Given the description of an element on the screen output the (x, y) to click on. 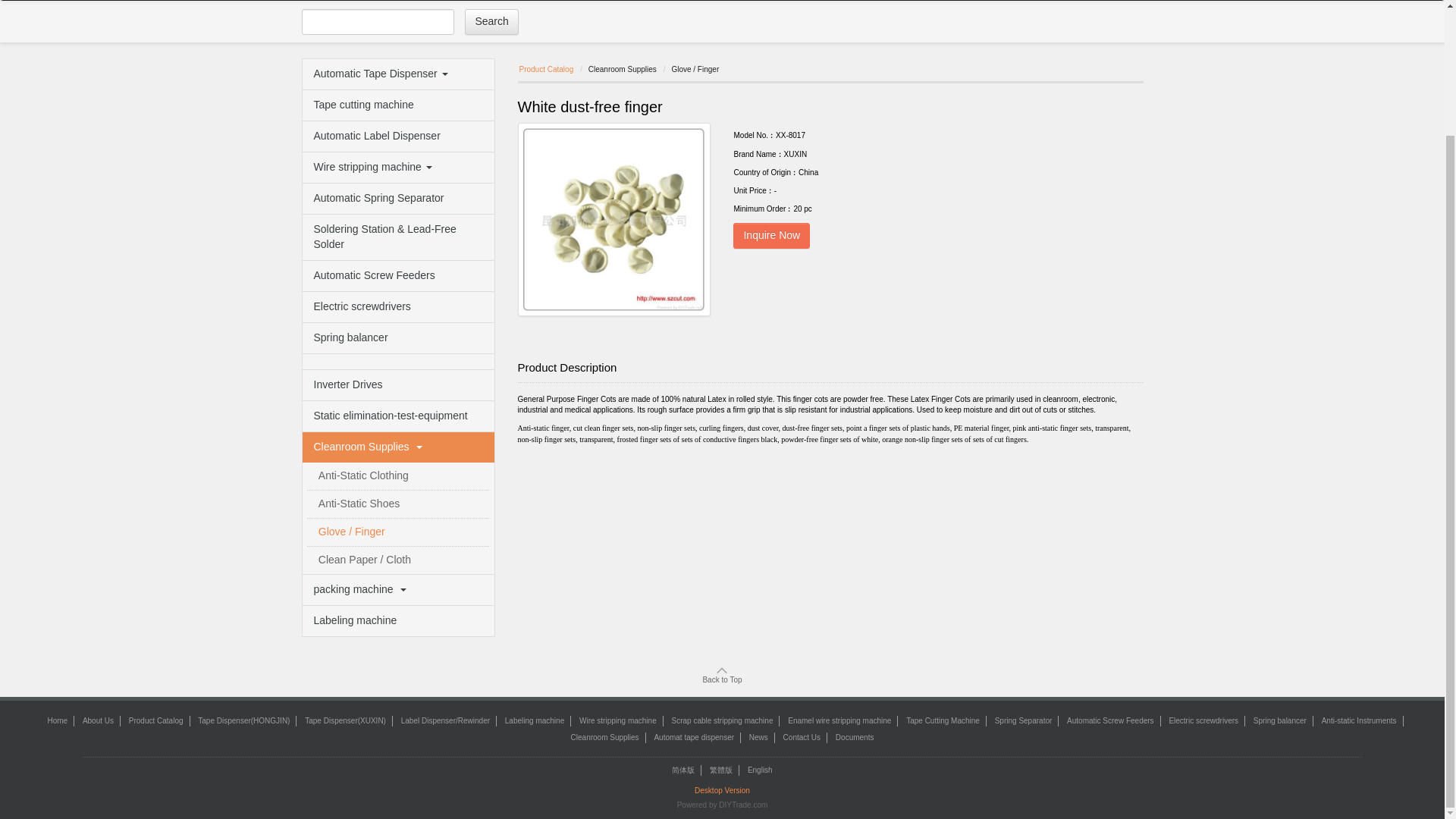
News (705, 0)
Cleanroom Supplies   (397, 447)
Wire stripping machine  (397, 167)
Electric screwdrivers (397, 306)
Anti-Static Clothing (398, 475)
Static elimination-test-equipment (397, 416)
Contact Us (756, 0)
Inverter Drives (397, 385)
